Given the description of an element on the screen output the (x, y) to click on. 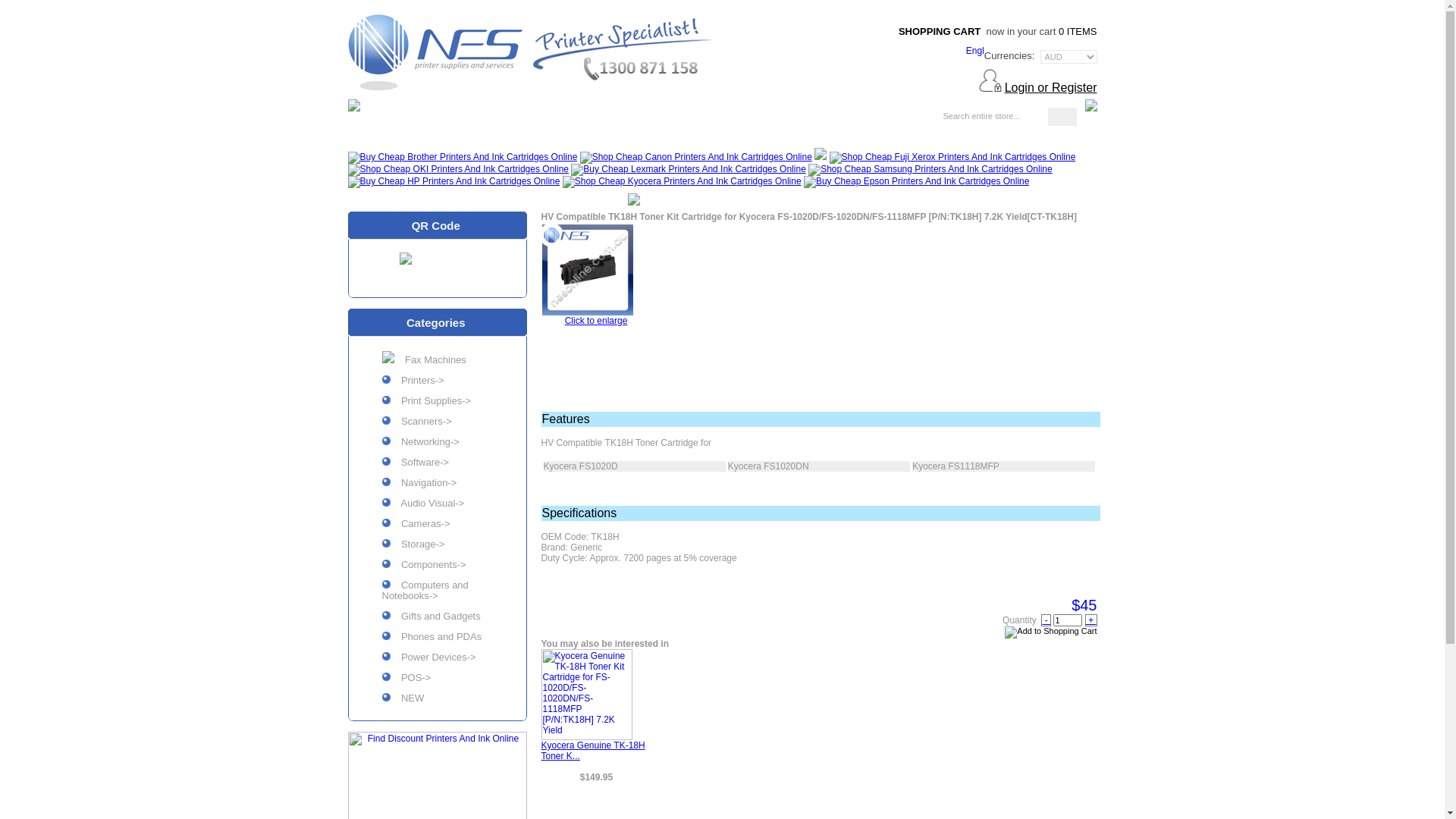
    Phones and PDAs Element type: text (436, 639)
    Power Devices-> Element type: text (436, 660)
 Buy Discount Printers & Cheap Ink Cartridges  Element type: hover (532, 49)
    Scanners-> Element type: text (436, 424)
Buy Fuji Xerox Printers Element type: hover (952, 157)
Blog Element type: text (908, 118)
 Add to Shopping Cart  Element type: hover (1050, 632)
    Computers and Notebooks-> Element type: text (436, 593)
    NEW Element type: text (436, 701)
    Navigation-> Element type: text (436, 485)
Homepage Element type: text (415, 118)
    Print Supplies-> Element type: text (436, 403)
FAQ Element type: text (865, 118)
Buy Epson Printers Element type: hover (916, 181)
0 ITEMS Element type: text (1077, 31)
What's New? Element type: text (520, 118)
    Cameras-> Element type: text (436, 526)
Buy Canon Printers Element type: hover (696, 157)
    Software-> Element type: text (436, 465)
    POS-> Element type: text (436, 680)
Login or Register Element type: text (1050, 87)
    Fax Machines Element type: text (436, 360)
Buy Lexmark Printers Element type: hover (688, 169)
    Networking-> Element type: text (436, 444)
 +  Element type: text (1091, 620)
Kyocera Genuine TK-18H Toner K... Element type: text (593, 750)
Click to enlarge Element type: text (595, 320)
 English  Element type: hover (975, 50)
Buy Kyocera Printers Element type: hover (681, 181)
    Storage-> Element type: text (436, 547)
Buy OKI Printers Element type: hover (457, 169)
Buy Samsung Printers Element type: hover (930, 169)
 -  Element type: text (1046, 620)
About Us Element type: text (803, 118)
My Account Element type: text (709, 118)
Specials Element type: text (617, 118)
    Gifts and Gadgets Element type: text (436, 619)
    Printers-> Element type: text (436, 383)
Buy Brother Printers Element type: hover (462, 157)
Buy HP Printers Element type: hover (453, 181)
    Audio Visual-> Element type: text (436, 506)
    Components-> Element type: text (436, 567)
